Given the description of an element on the screen output the (x, y) to click on. 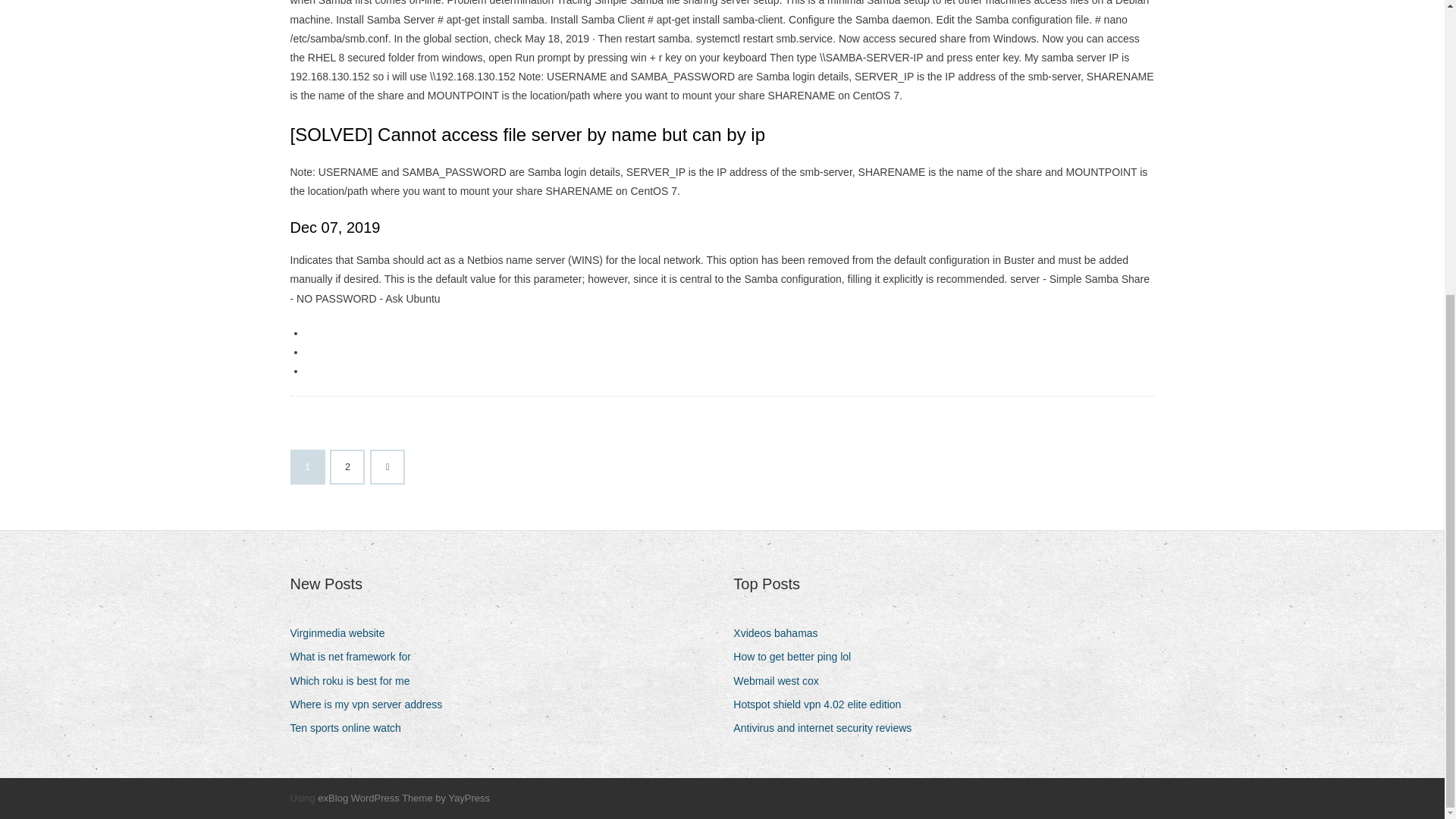
2 (346, 467)
Hotspot shield vpn 4.02 elite edition (822, 704)
Antivirus and internet security reviews (828, 728)
Ten sports online watch (350, 728)
Xvideos bahamas (780, 633)
Virginmedia website (342, 633)
Where is my vpn server address (370, 704)
Which roku is best for me (354, 680)
Webmail west cox (781, 680)
exBlog WordPress Theme by YayPress (403, 797)
What is net framework for (355, 657)
How to get better ping lol (797, 657)
